Given the description of an element on the screen output the (x, y) to click on. 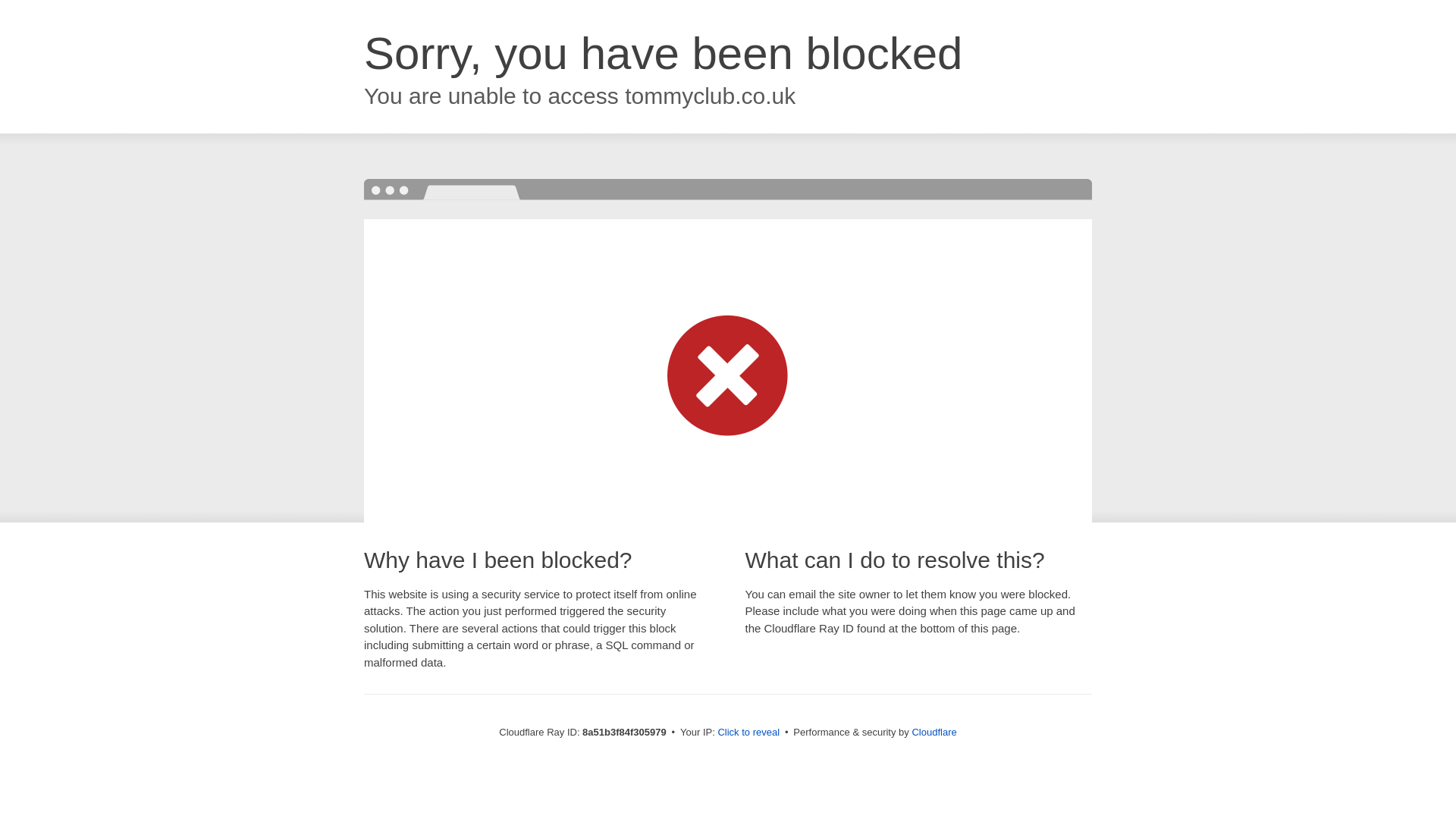
Click to reveal (747, 732)
Cloudflare (933, 731)
